Given the description of an element on the screen output the (x, y) to click on. 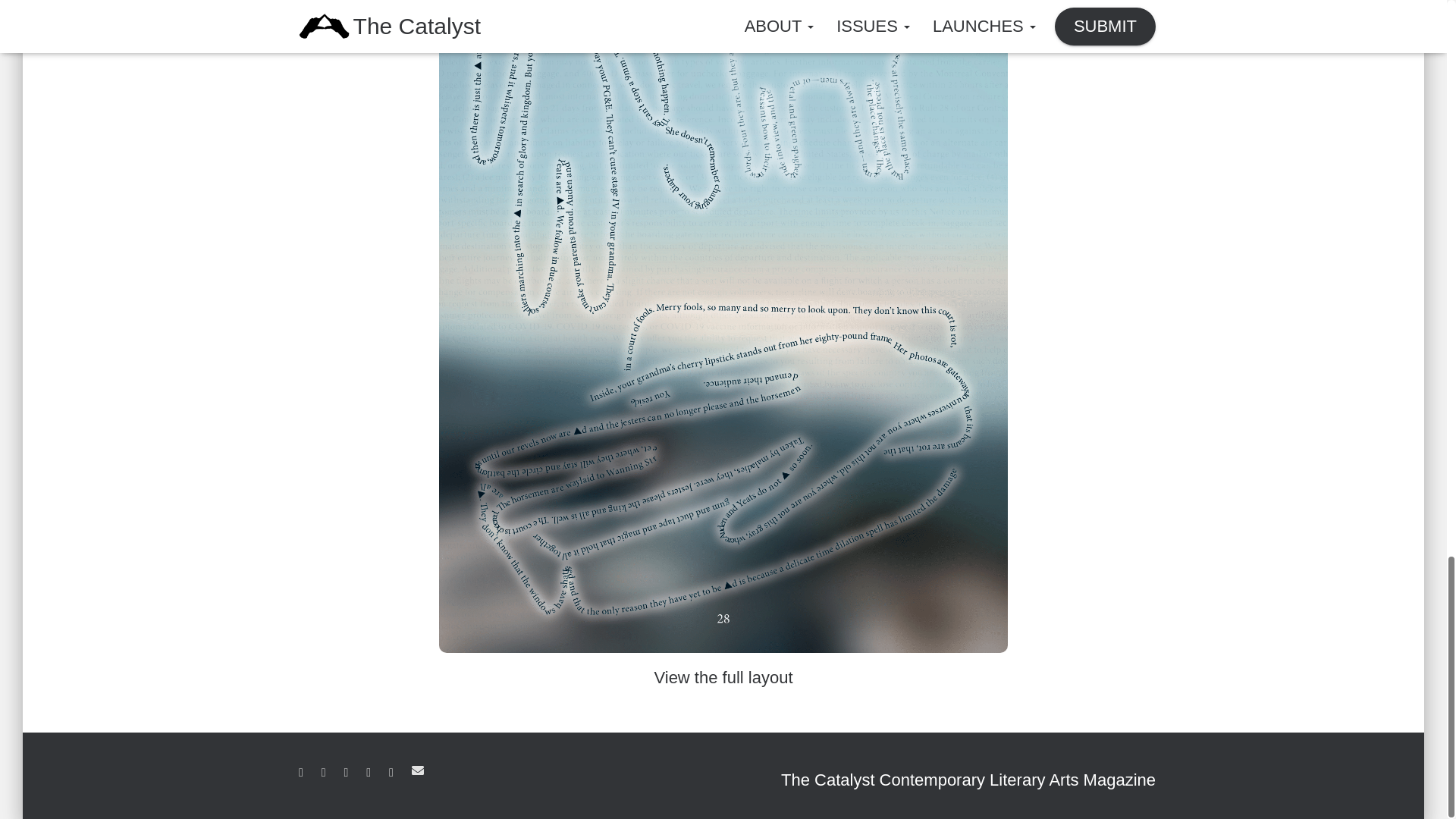
EMAIL (417, 769)
View the full layout (722, 677)
